Given the description of an element on the screen output the (x, y) to click on. 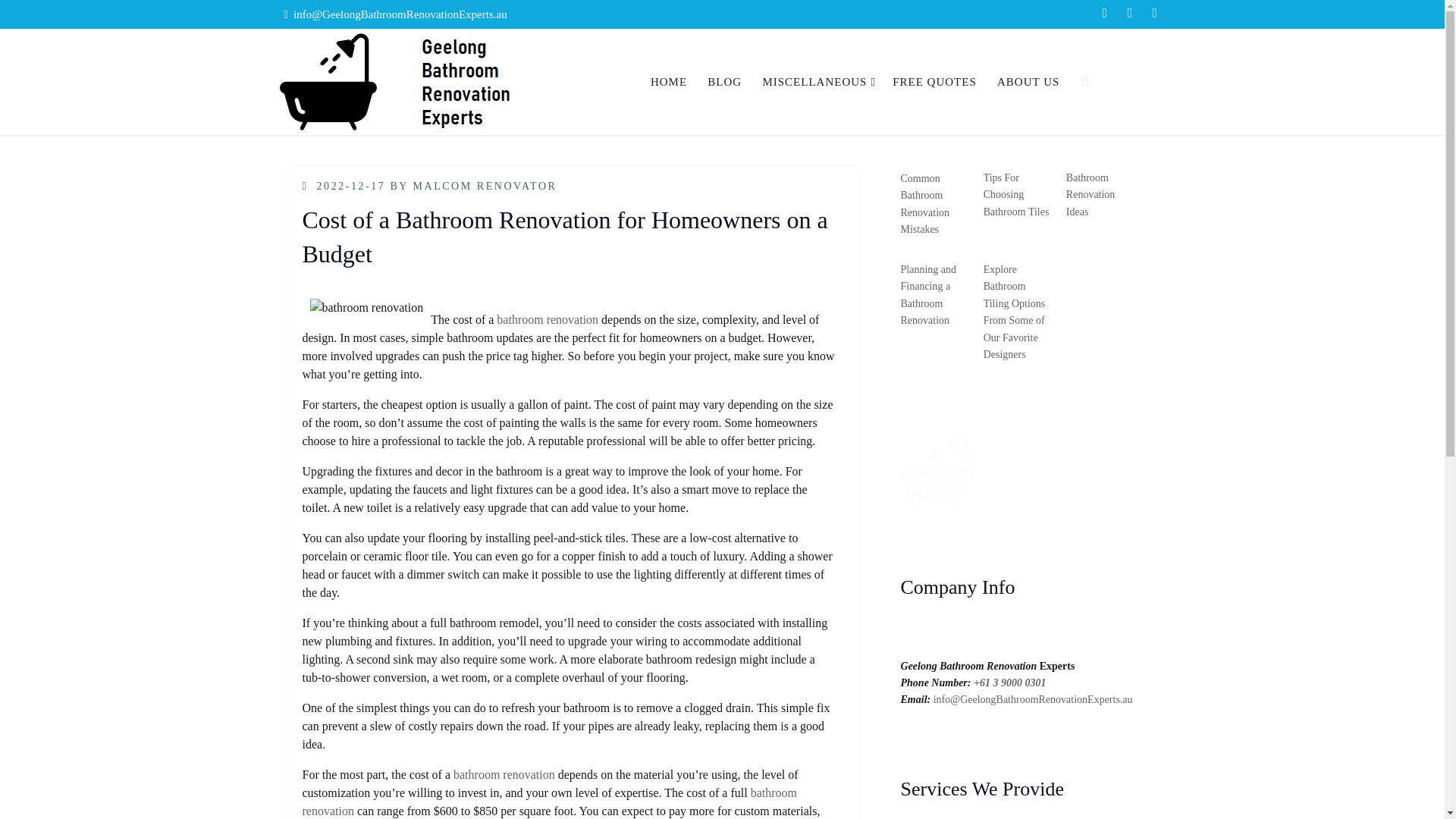
2022-12-17 (351, 185)
bathroom renovation (547, 318)
Facebook (1104, 14)
Tips For Choosing Bathroom Tiles (1016, 194)
MALCOM RENOVATOR (484, 185)
bathroom renovation (503, 774)
bathroom renovation (548, 801)
BLOG (723, 81)
HOME (668, 81)
FREE QUOTES (934, 81)
Pinterest (1153, 14)
ABOUT US (1028, 81)
Planning and Financing a Bathroom Renovation (928, 294)
Bathroom Renovation Ideas (1090, 194)
Twitter (1129, 14)
